Given the description of an element on the screen output the (x, y) to click on. 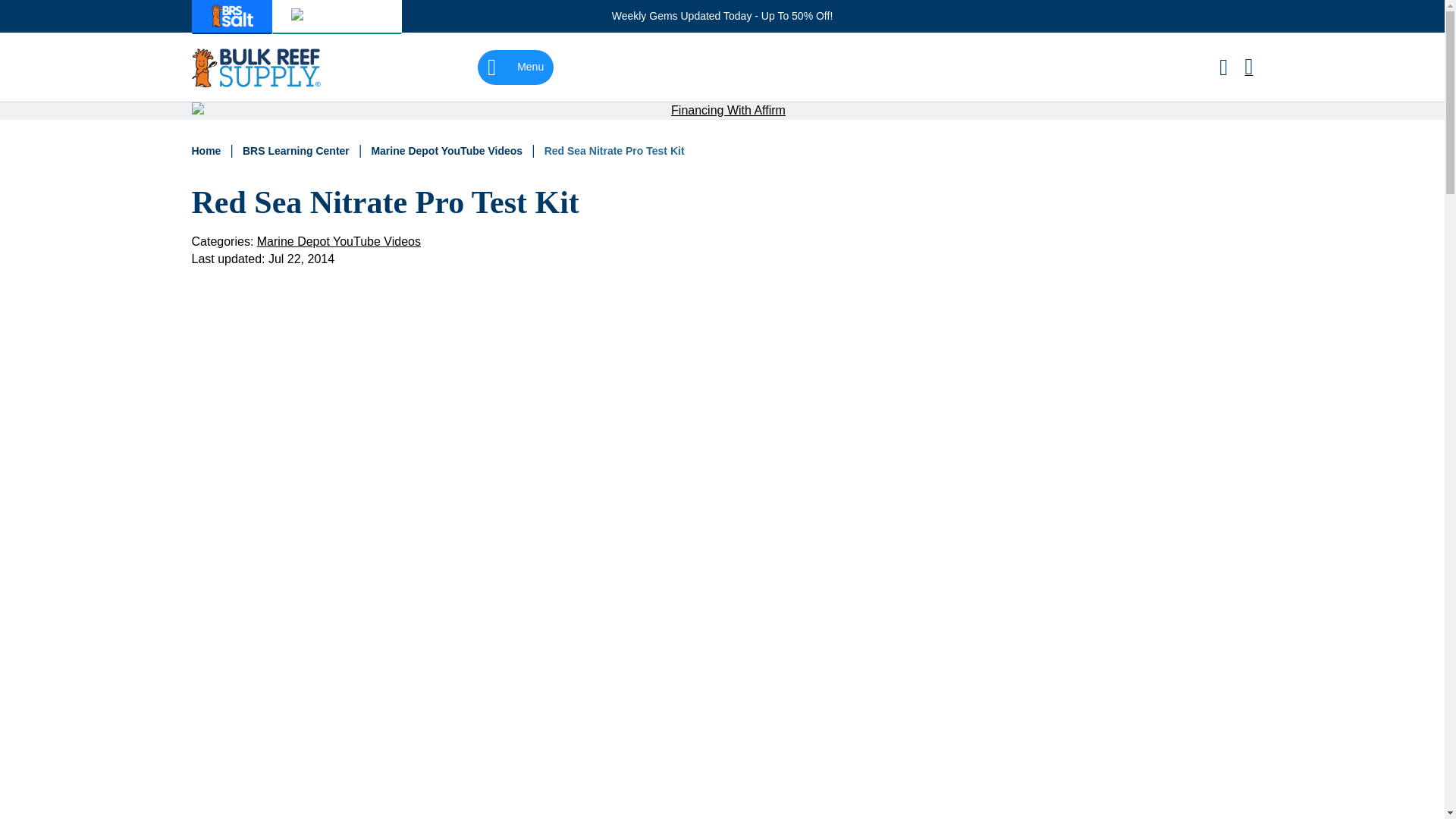
BRS Learning Center (297, 150)
Marine Depot YouTube Videos (448, 150)
Marine Depot YouTube Videos (338, 241)
Home (207, 150)
Bulk Reef Supply (255, 67)
BRS Learning Center (297, 150)
Marine Depot YouTube Videos (448, 150)
Go to Home Page (207, 150)
Marine Depot YouTube Videos (338, 241)
